Given the description of an element on the screen output the (x, y) to click on. 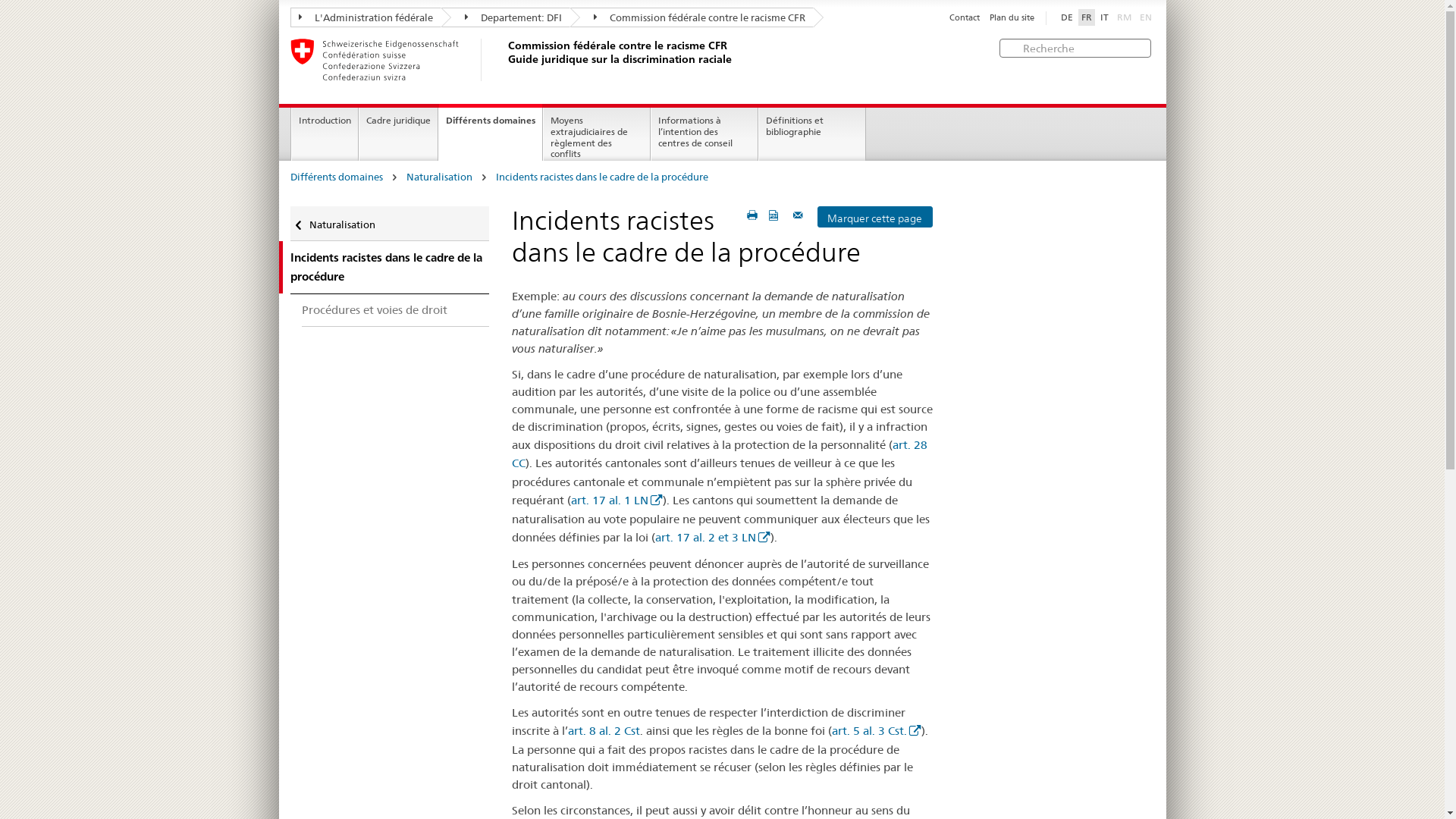
Departement: DFI Element type: text (505, 17)
Cadre juridique Element type: text (398, 133)
PDF Element type: hover (775, 214)
art. 28 CC Element type: text (719, 453)
Marquer cette page Element type: text (874, 216)
art. 17 al. 1 LN Element type: text (616, 499)
Naturalisation Element type: text (439, 176)
Plan du site Element type: text (1010, 17)
art. 8 al. 2 Cst Element type: text (603, 730)
art. 5 al. 3 Cst. Element type: text (876, 730)
DE Element type: text (1066, 17)
FR Element type: text (1086, 17)
IT Element type: text (1103, 17)
art. 17 al. 2 et 3 LN Element type: text (712, 537)
Imprimer Element type: hover (751, 214)
Envoyer par e-mail Element type: hover (799, 214)
Naturalisation Element type: text (389, 223)
Contact Element type: text (964, 17)
Introduction Element type: text (324, 133)
